Given the description of an element on the screen output the (x, y) to click on. 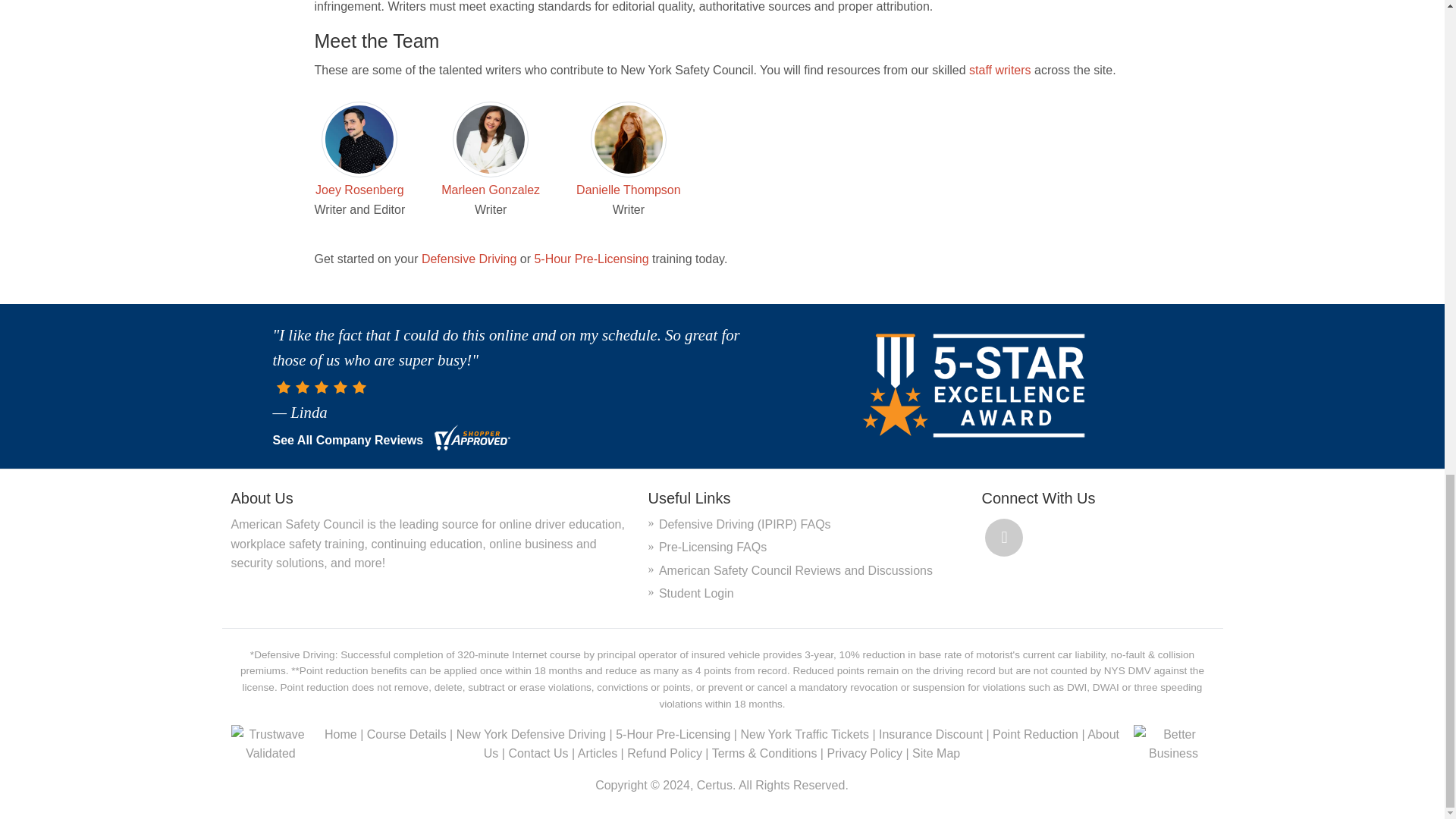
See All Company Reviews (348, 440)
5-Hour Pre-Licensing (590, 258)
staff writers (999, 69)
Danielle Thompson (628, 189)
Pre-Licensing FAQs (713, 546)
Defensive Driving (469, 258)
Marleen Gonzalez (490, 189)
Joey Rosenberg (359, 189)
Like us on Facebook (1004, 537)
